Given the description of an element on the screen output the (x, y) to click on. 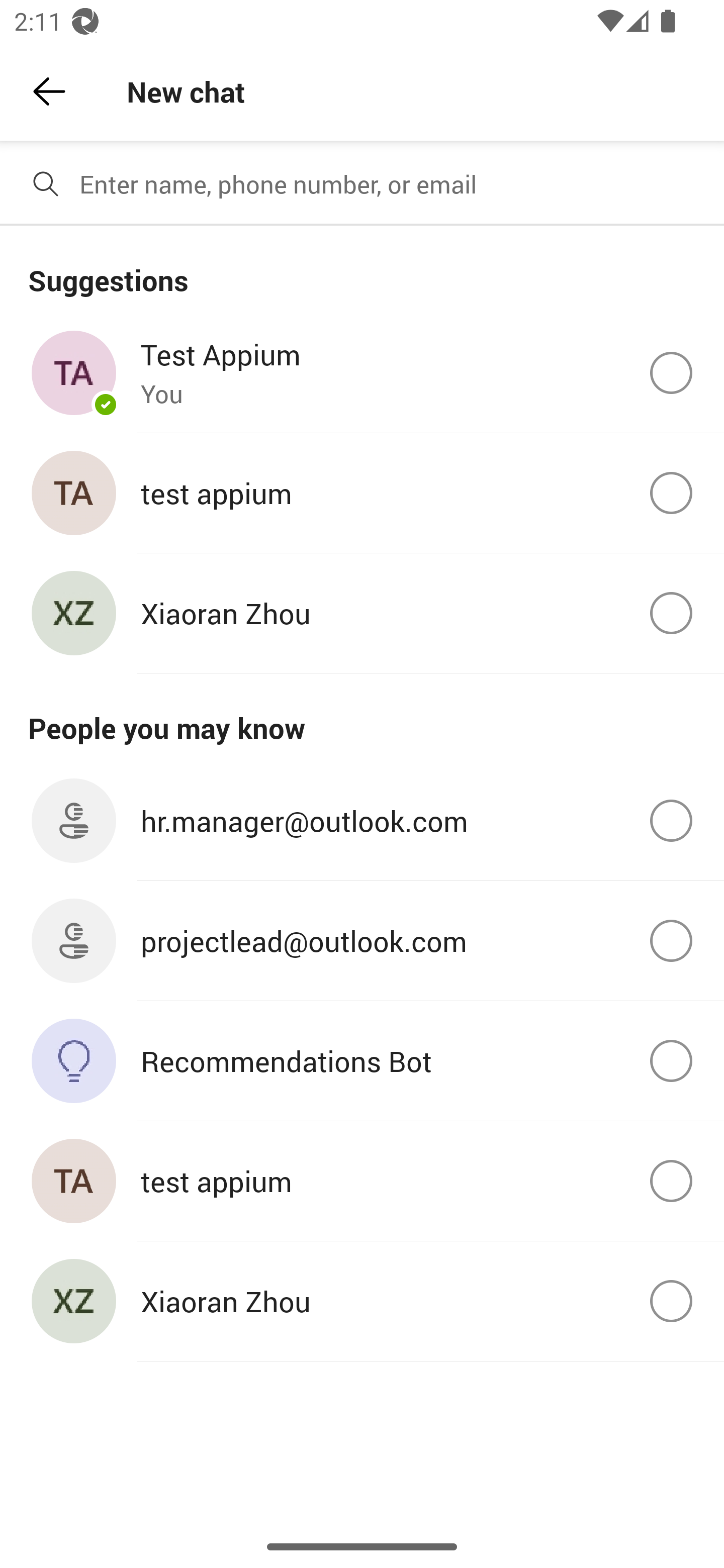
Back (49, 91)
Enter name, phone number, or email (393, 184)
Suggestions section header Suggestions (362, 269)
